Given the description of an element on the screen output the (x, y) to click on. 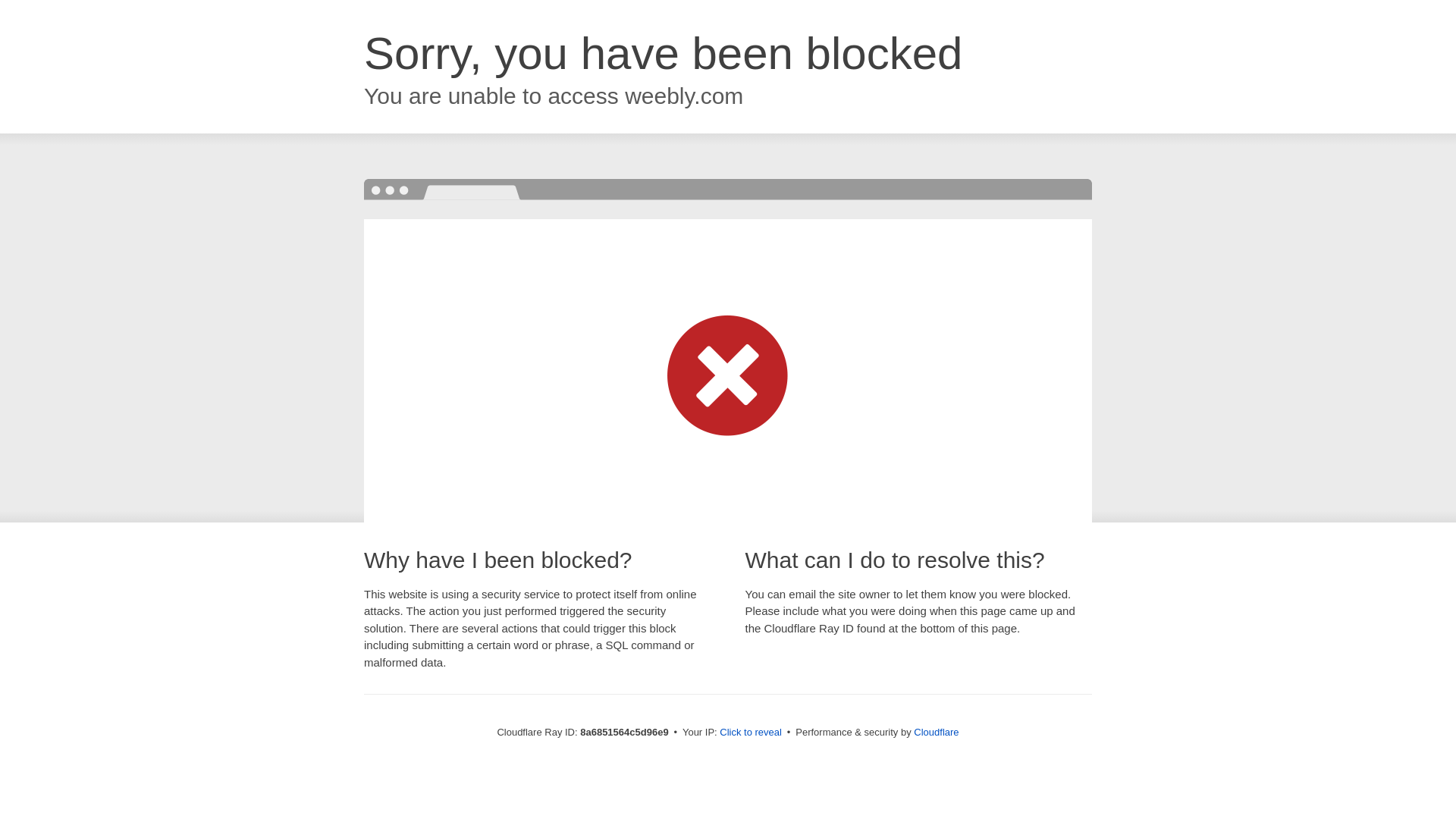
Click to reveal (750, 732)
Cloudflare (936, 731)
